Given the description of an element on the screen output the (x, y) to click on. 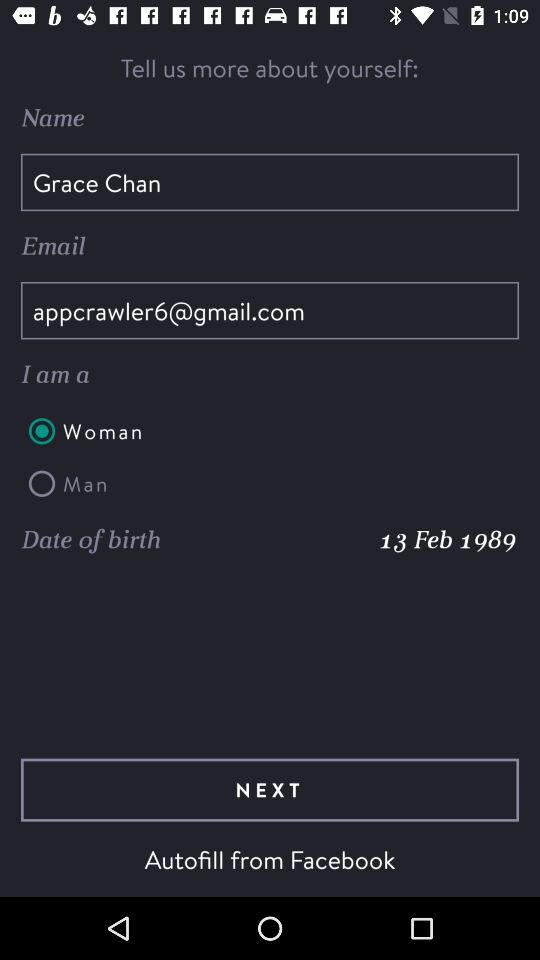
press icon above i am a (269, 310)
